Given the description of an element on the screen output the (x, y) to click on. 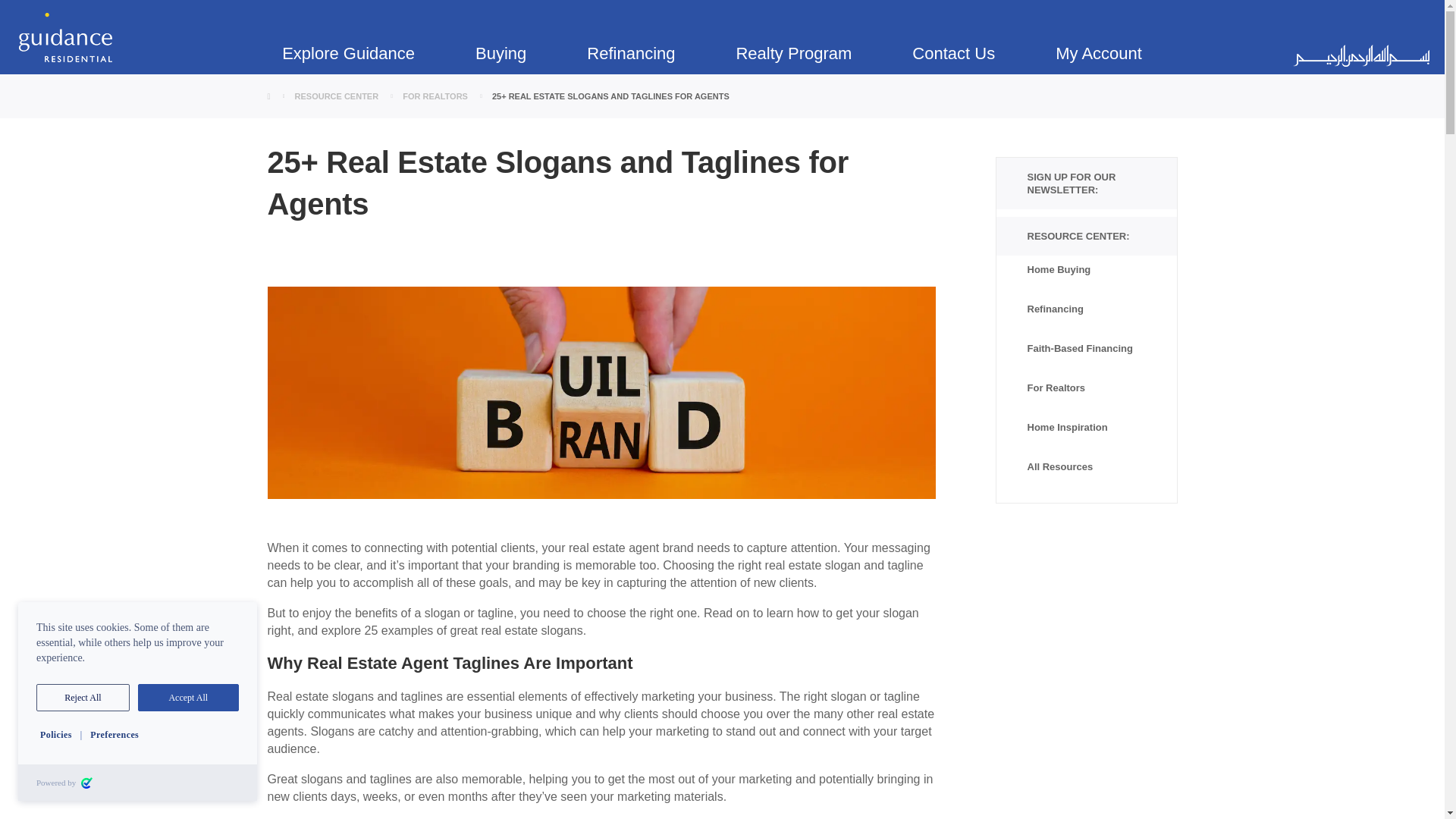
Privacy Widget (137, 701)
